Given the description of an element on the screen output the (x, y) to click on. 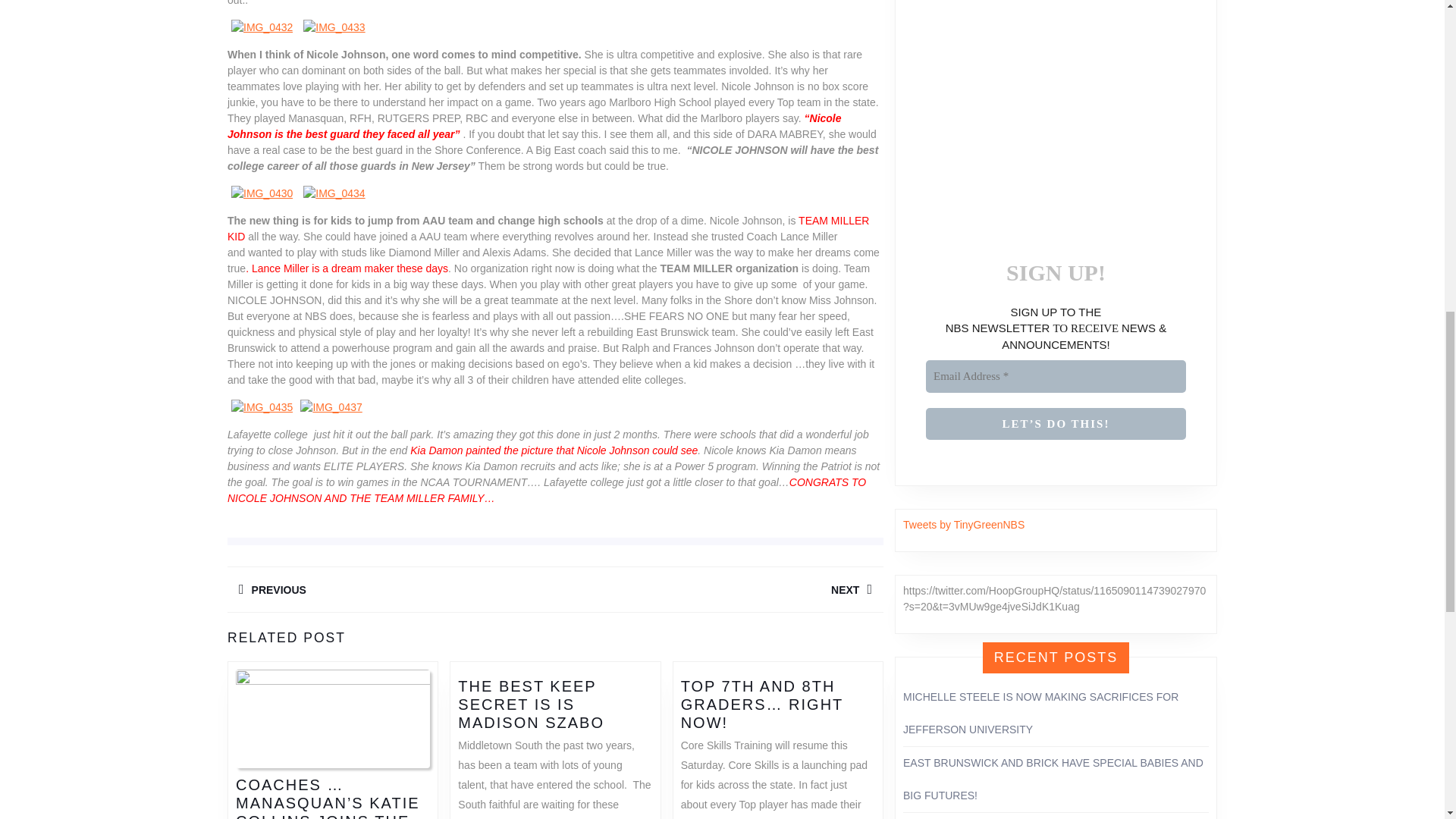
Tweets by TinyGreenNBS (718, 589)
Email Address (391, 589)
